Given the description of an element on the screen output the (x, y) to click on. 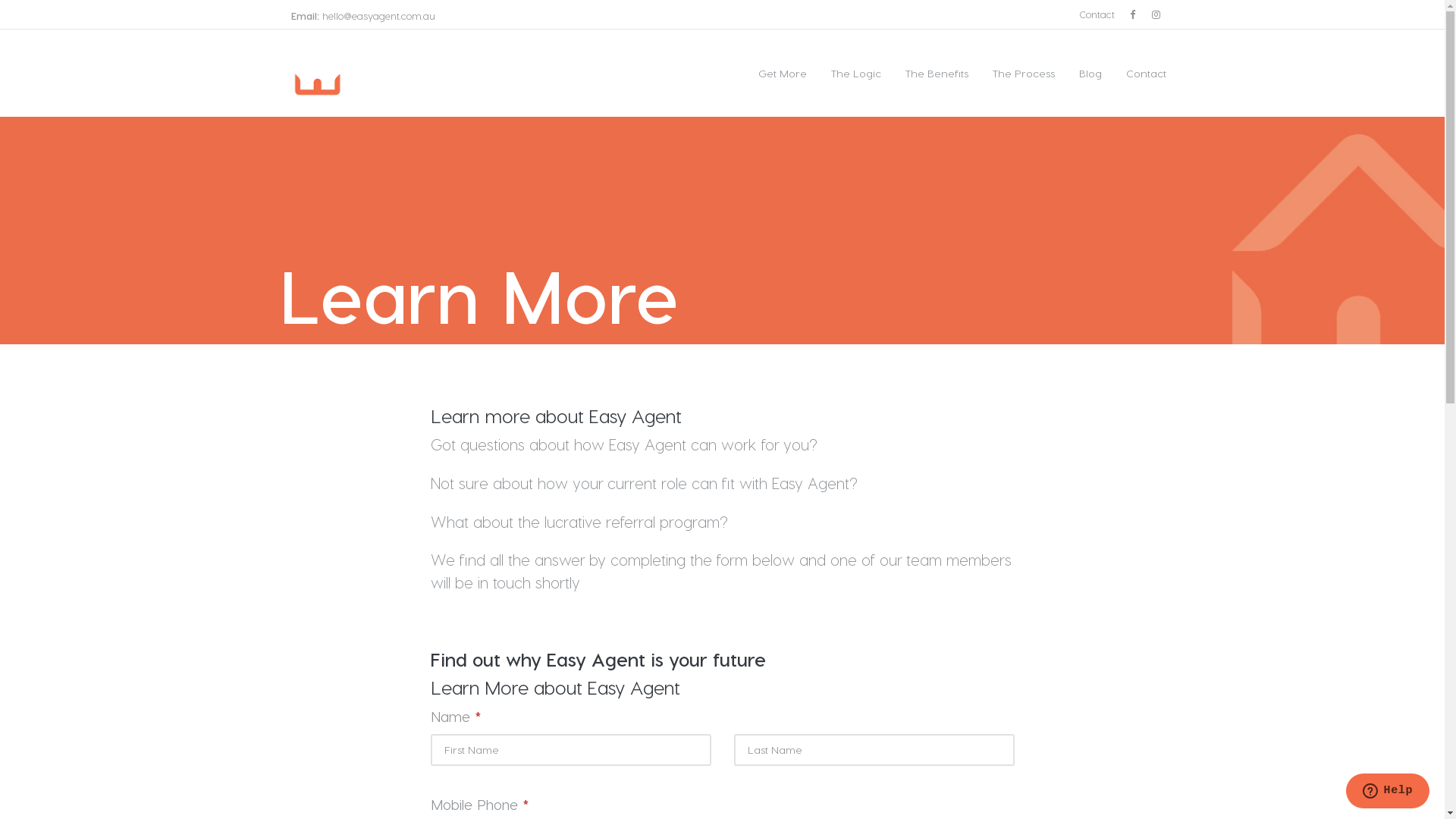
The Process Element type: text (1022, 73)
Opens a widget where you can chat to one of our agents Element type: hover (1387, 792)
Contact Element type: text (1139, 73)
Contact Element type: text (1096, 14)
The Benefits Element type: text (936, 73)
The Logic Element type: text (856, 73)
Blog Element type: text (1089, 73)
Get More Element type: text (782, 73)
Email: hello@easyagent.com.au Element type: text (363, 15)
